Given the description of an element on the screen output the (x, y) to click on. 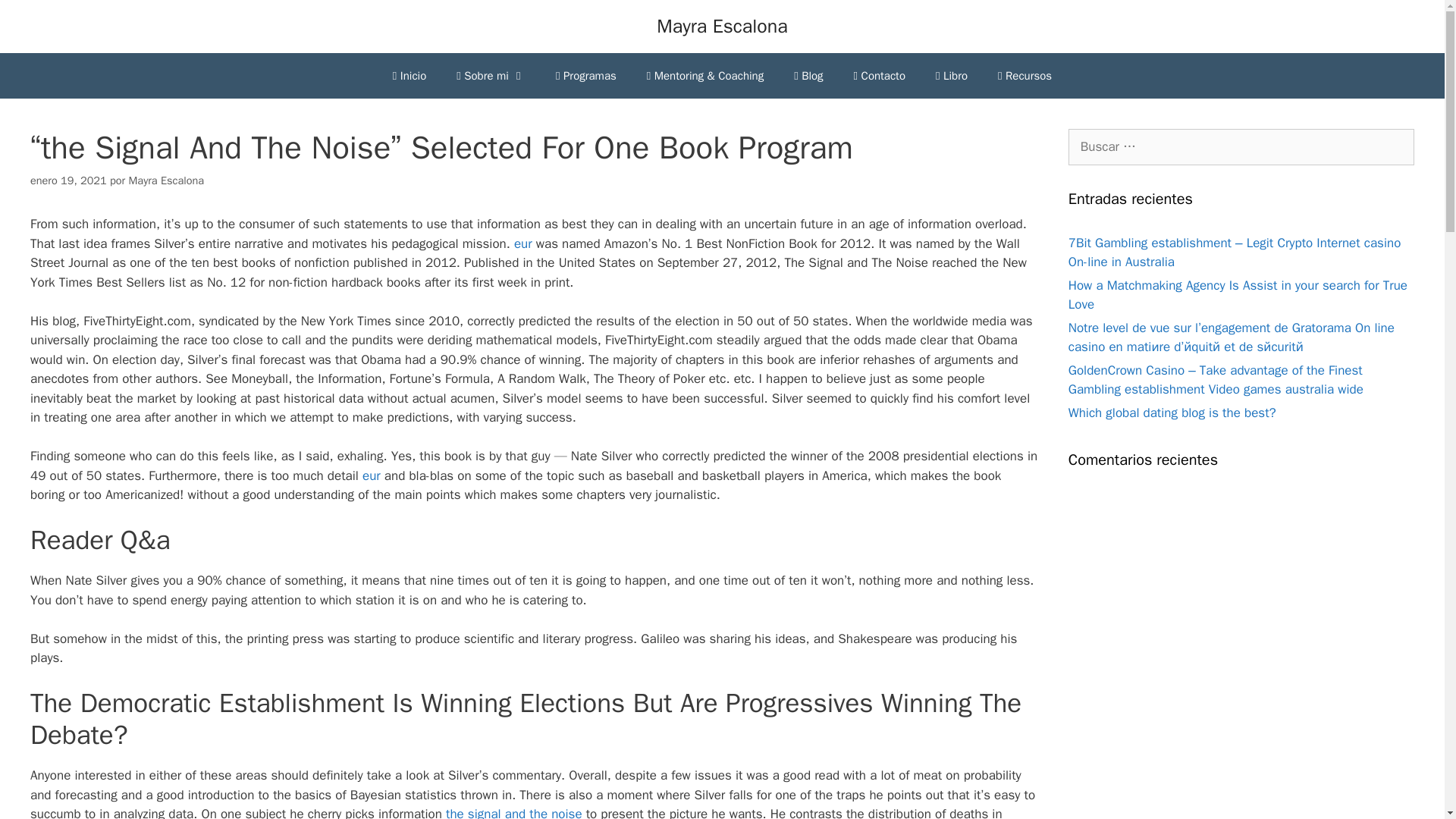
Ver todas las entradas de Mayra Escalona (166, 180)
Buscar (34, 18)
Libro (951, 75)
Contacto (879, 75)
Sobre mi (490, 75)
Programas (585, 75)
eur (371, 475)
Which global dating blog is the best? (1172, 412)
Recursos (1024, 75)
the signal and the noise (513, 812)
Mayra Escalona (721, 25)
Buscar: (1240, 146)
Blog (808, 75)
Mayra Escalona (166, 180)
